Given the description of an element on the screen output the (x, y) to click on. 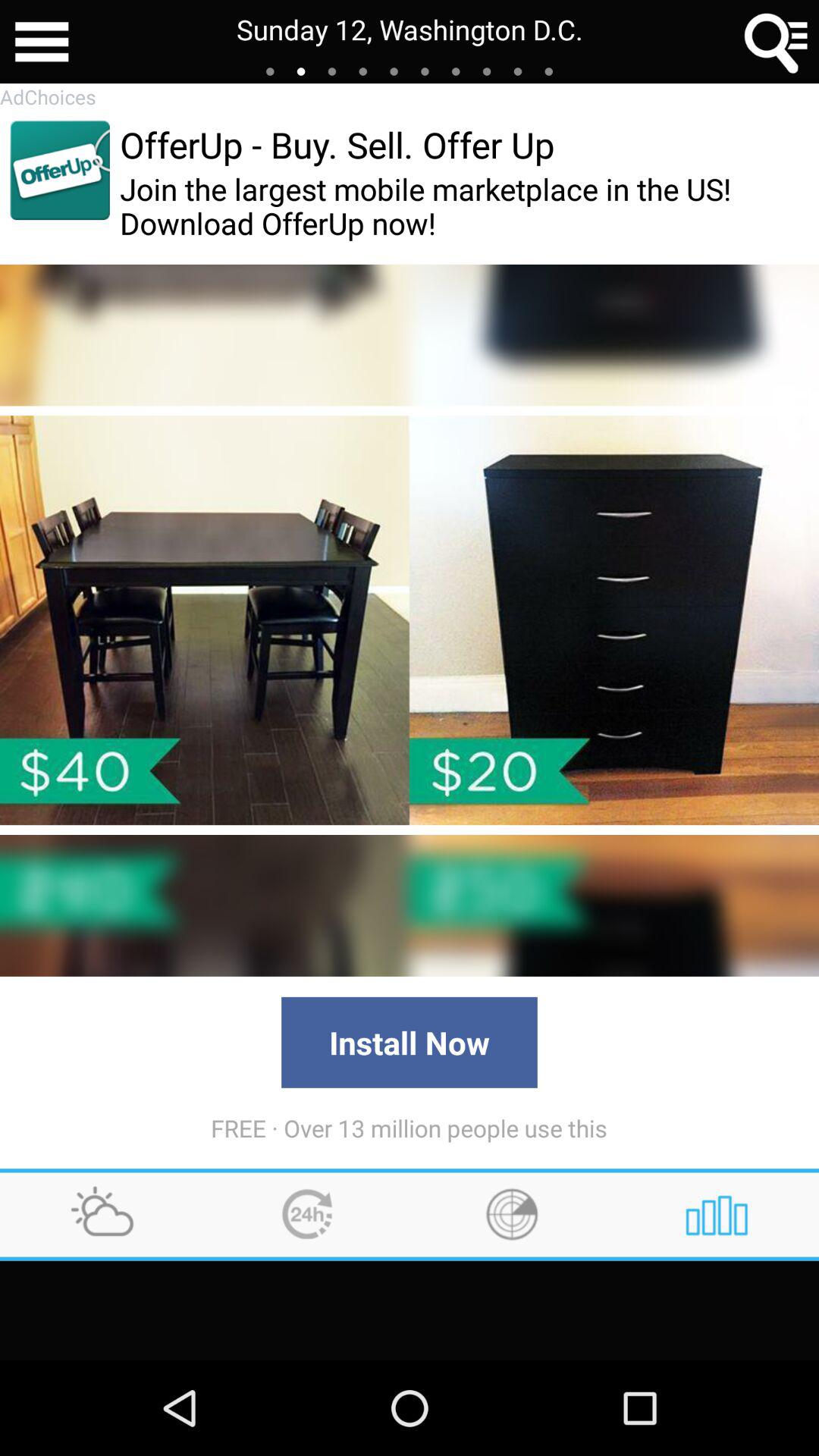
view the main menu (41, 41)
